Given the description of an element on the screen output the (x, y) to click on. 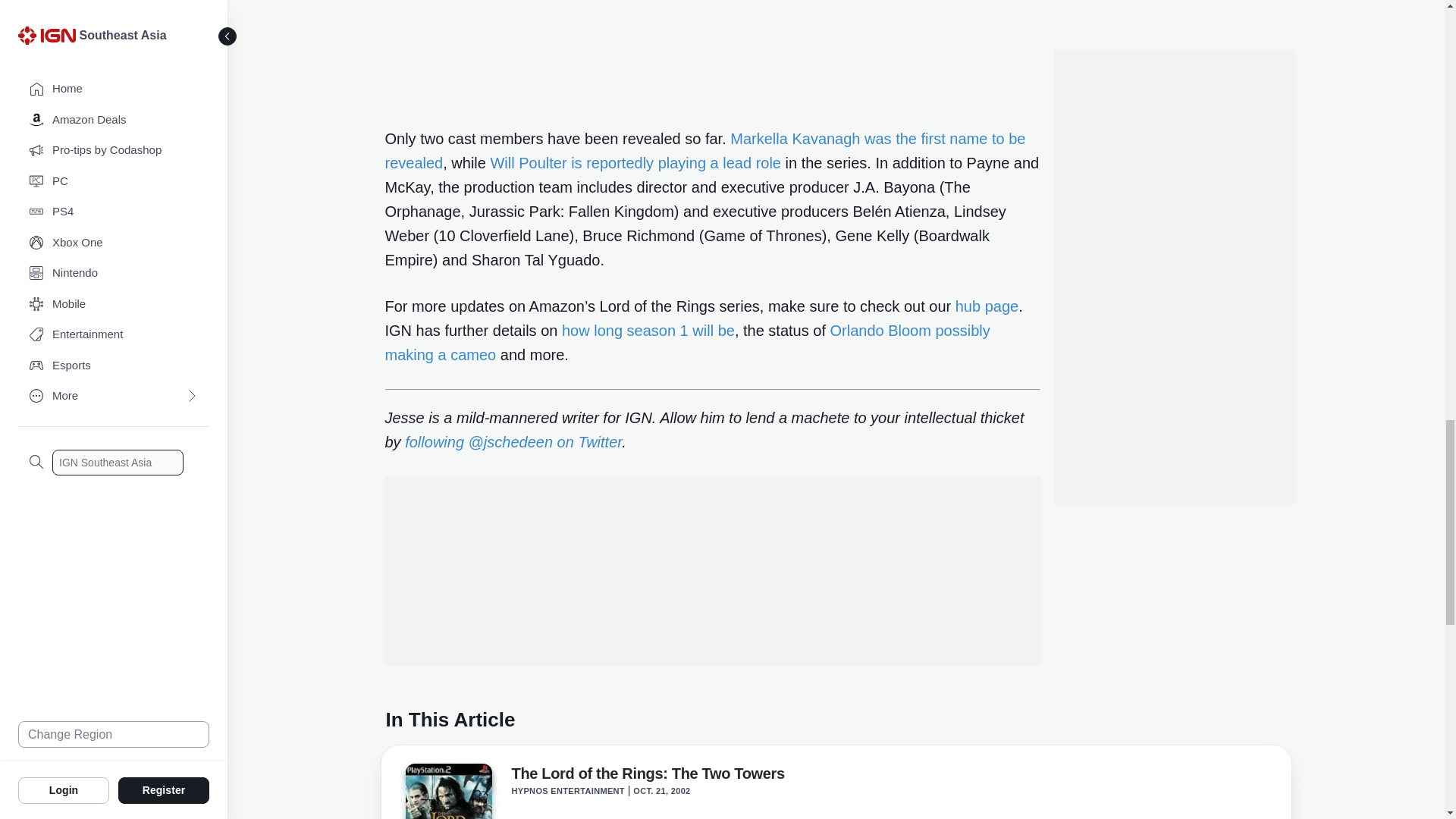
The Lord of the Rings: The Two Towers (448, 793)
The Lord of the Rings: The Two Towers (647, 775)
The Lord of the Rings: The Two Towers (448, 791)
